Given the description of an element on the screen output the (x, y) to click on. 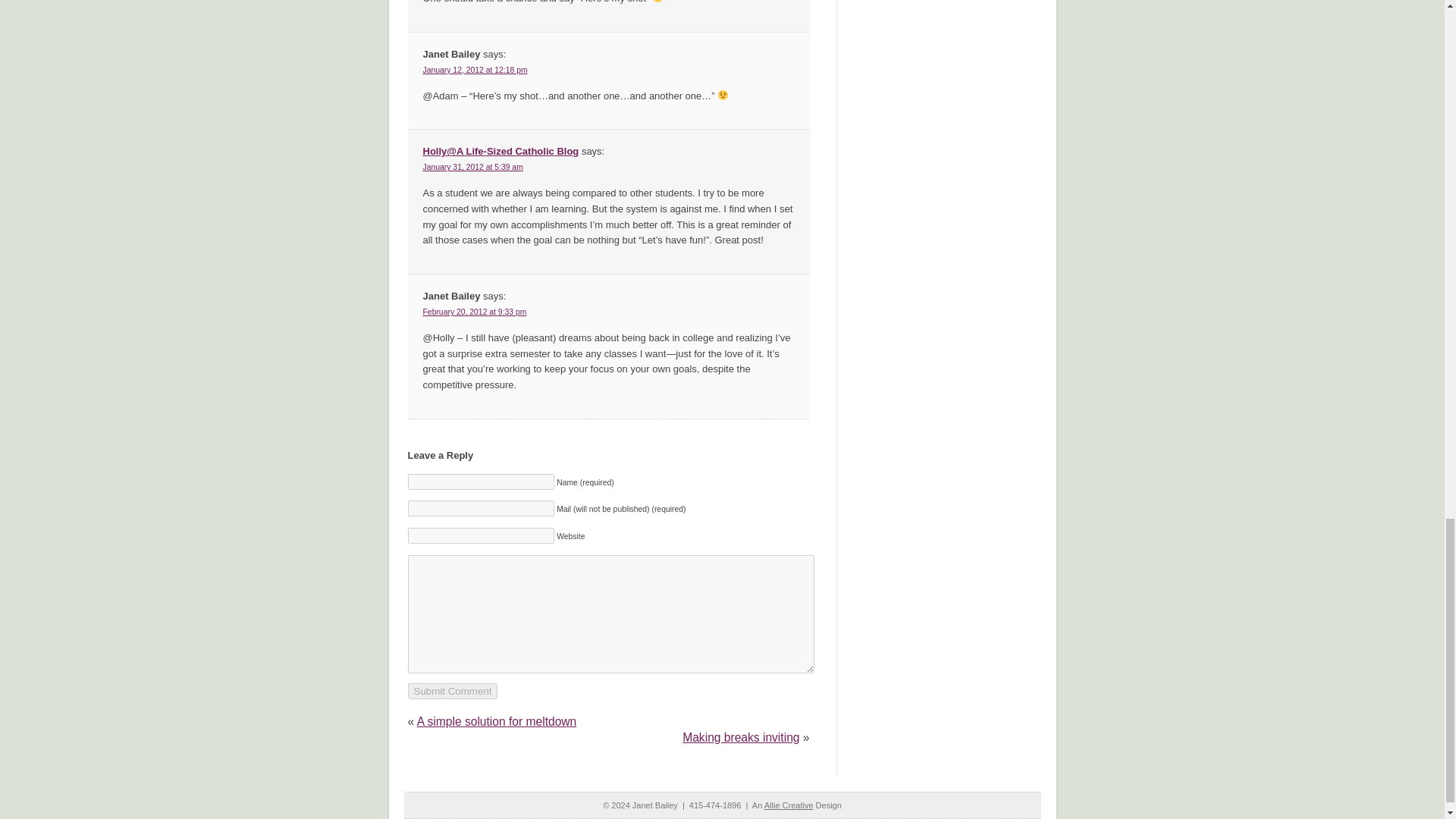
Submit Comment (452, 691)
Submit Comment (452, 691)
Making breaks inviting (740, 737)
January 31, 2012 at 5:39 am (472, 166)
February 20, 2012 at 9:33 pm (475, 311)
January 12, 2012 at 12:18 pm (475, 70)
A simple solution for meltdown (496, 721)
